Given the description of an element on the screen output the (x, y) to click on. 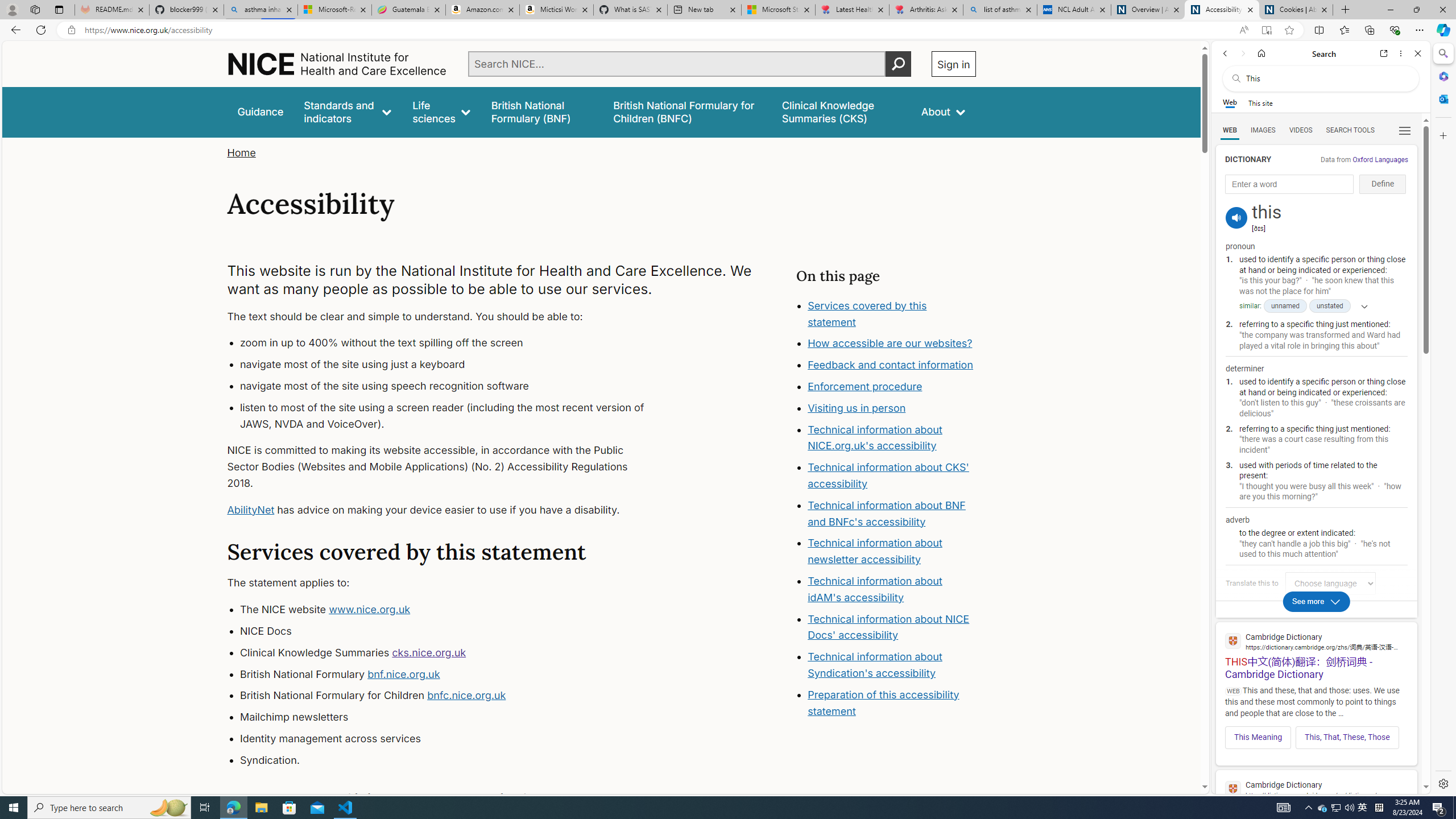
bnf.nice.org.uk (402, 673)
British National Formulary bnf.nice.org.uk (452, 674)
unnamed (1285, 305)
Enforcement procedure (865, 386)
zoom in up to 400% without the text spilling off the screen (452, 343)
cks.nice.org.uk (428, 652)
